Given the description of an element on the screen output the (x, y) to click on. 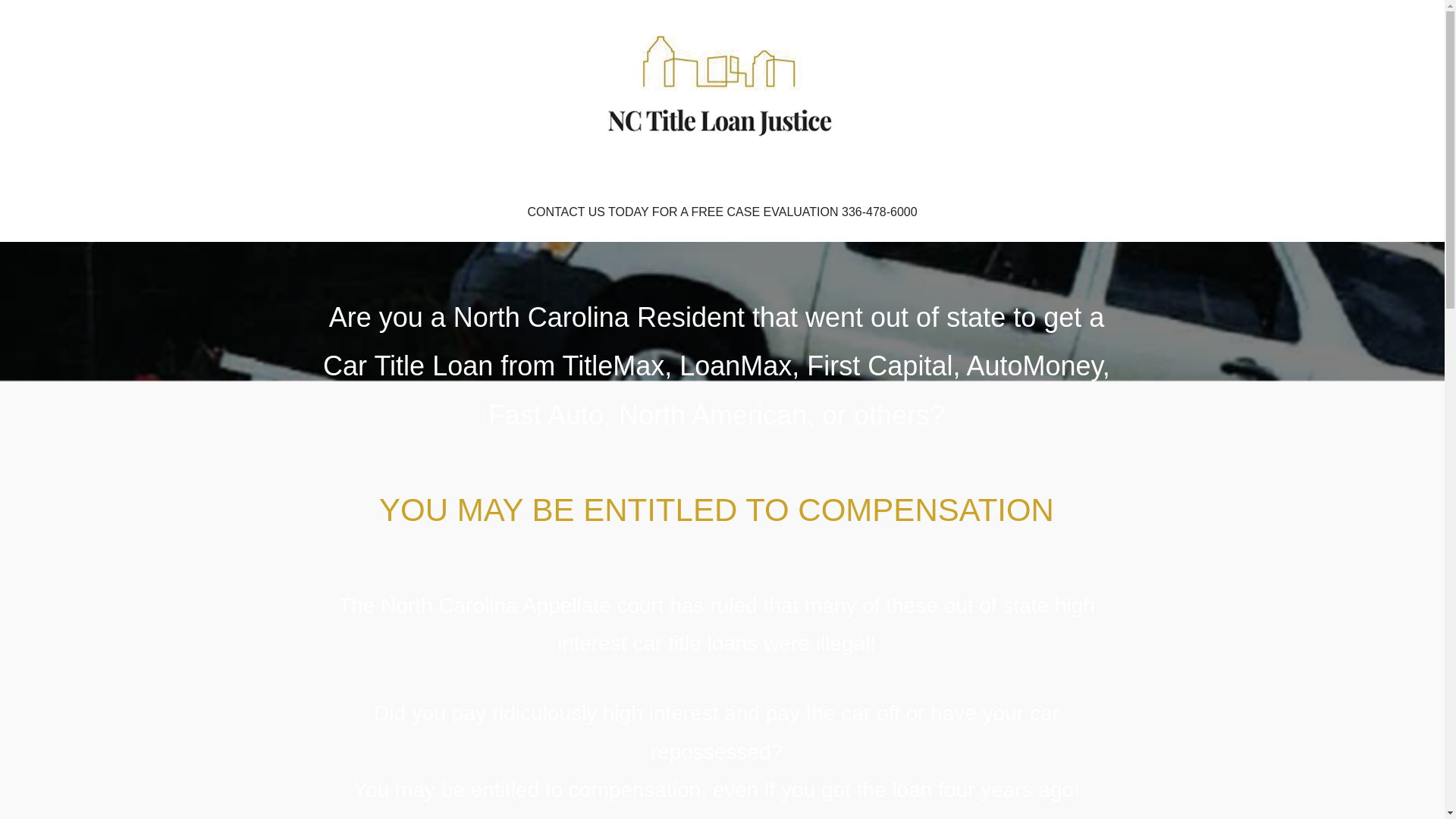
NC Title Loan Justice (444, 179)
CONTACT US TODAY FOR A FREE CASE EVALUATION 336-478-6000 (722, 212)
